Given the description of an element on the screen output the (x, y) to click on. 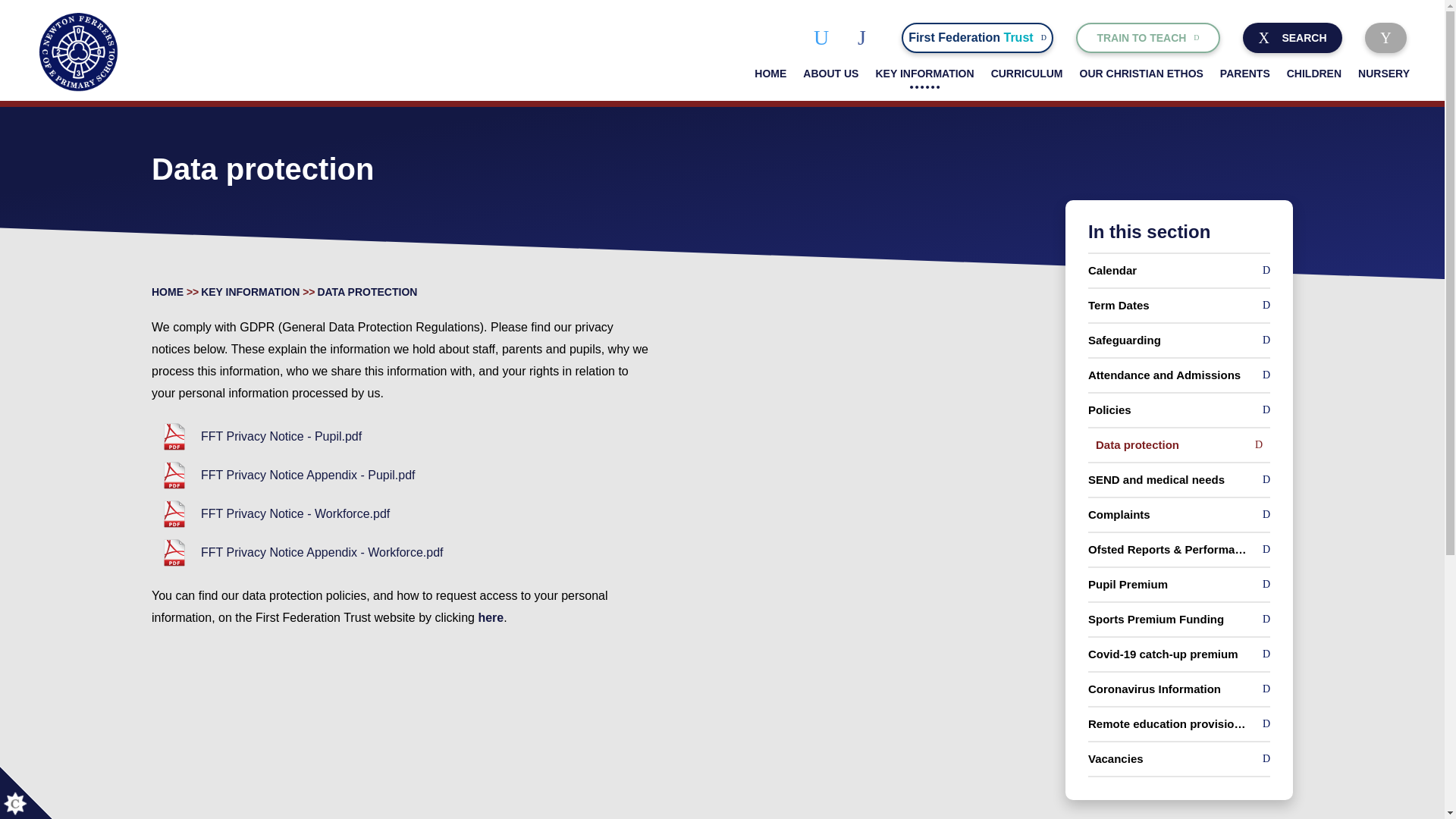
ABOUT US (823, 37)
Log in (830, 73)
CURRICULUM (1385, 37)
KEY INFORMATION (1026, 73)
HOME (976, 37)
Home Page (1147, 37)
